Given the description of an element on the screen output the (x, y) to click on. 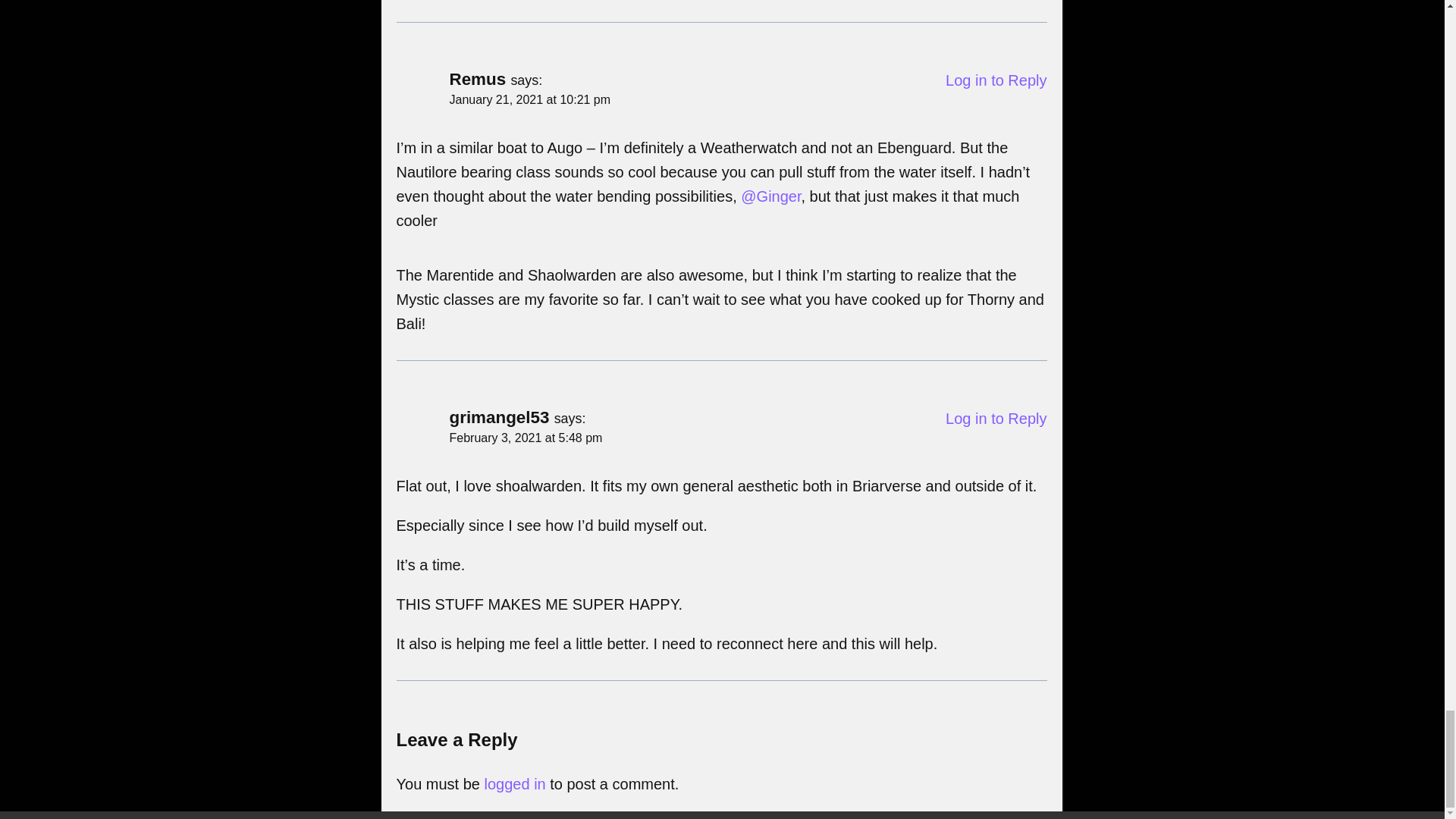
:joy: (403, 240)
